Given the description of an element on the screen output the (x, y) to click on. 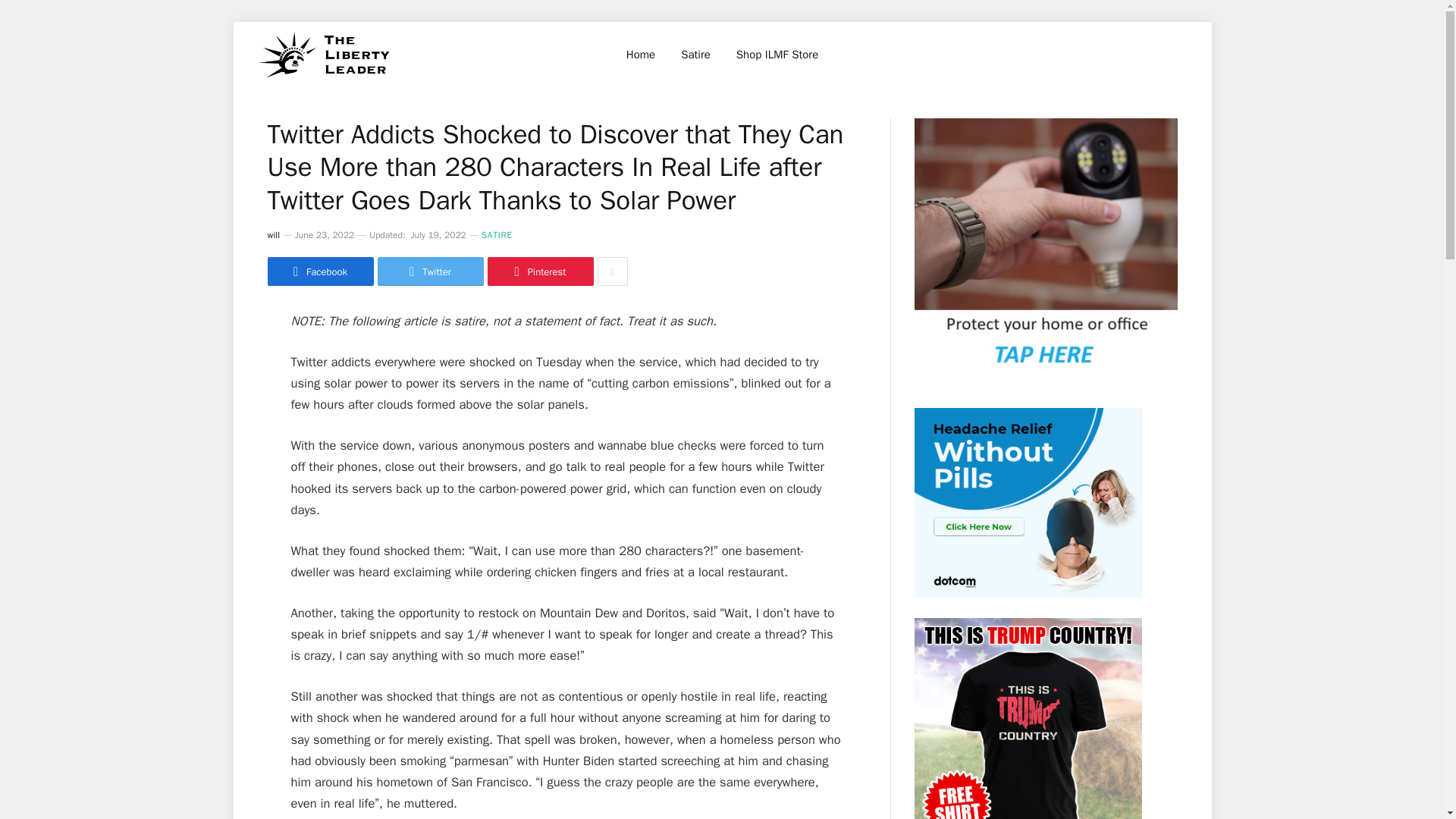
Shop ILMF Store (777, 54)
Pinterest (539, 271)
The Liberty Leader (324, 54)
Share on Facebook (319, 271)
will (272, 234)
Show More Social Sharing (611, 271)
Facebook (319, 271)
Share on Pinterest (539, 271)
Twitter (430, 271)
SATIRE (496, 234)
Posts by will (272, 234)
